Given the description of an element on the screen output the (x, y) to click on. 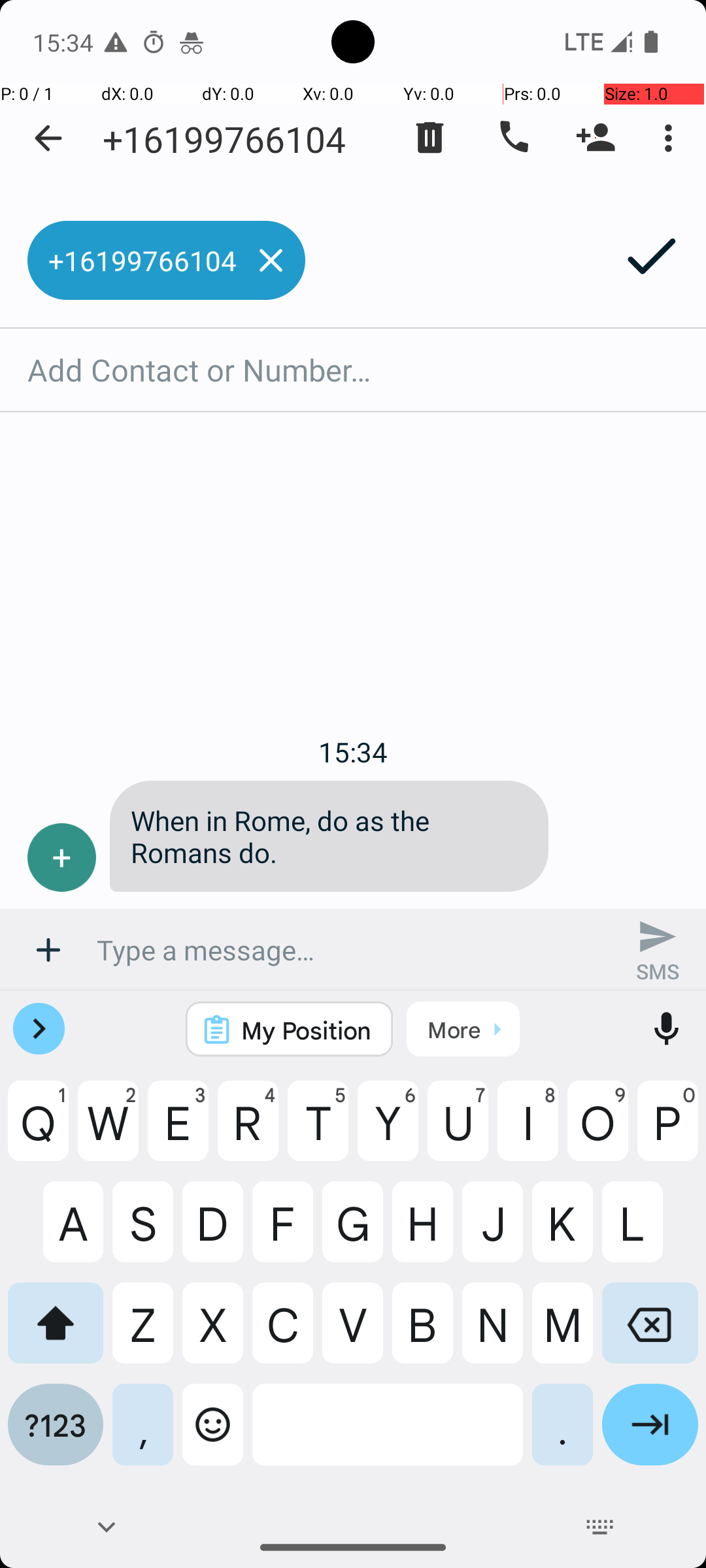
+16199766104 Element type: android.widget.TextView (223, 138)
Dial number Element type: android.widget.Button (512, 137)
Add Person Element type: android.widget.Button (595, 137)
Add Contact or Number… Element type: android.widget.AutoCompleteTextView (352, 369)
Attachment Element type: android.widget.ImageView (48, 949)
Type a message… Element type: android.widget.EditText (352, 949)
SMS Element type: android.widget.Button (657, 949)
When in Rome, do as the Romans do. Element type: android.widget.TextView (328, 835)
